Given the description of an element on the screen output the (x, y) to click on. 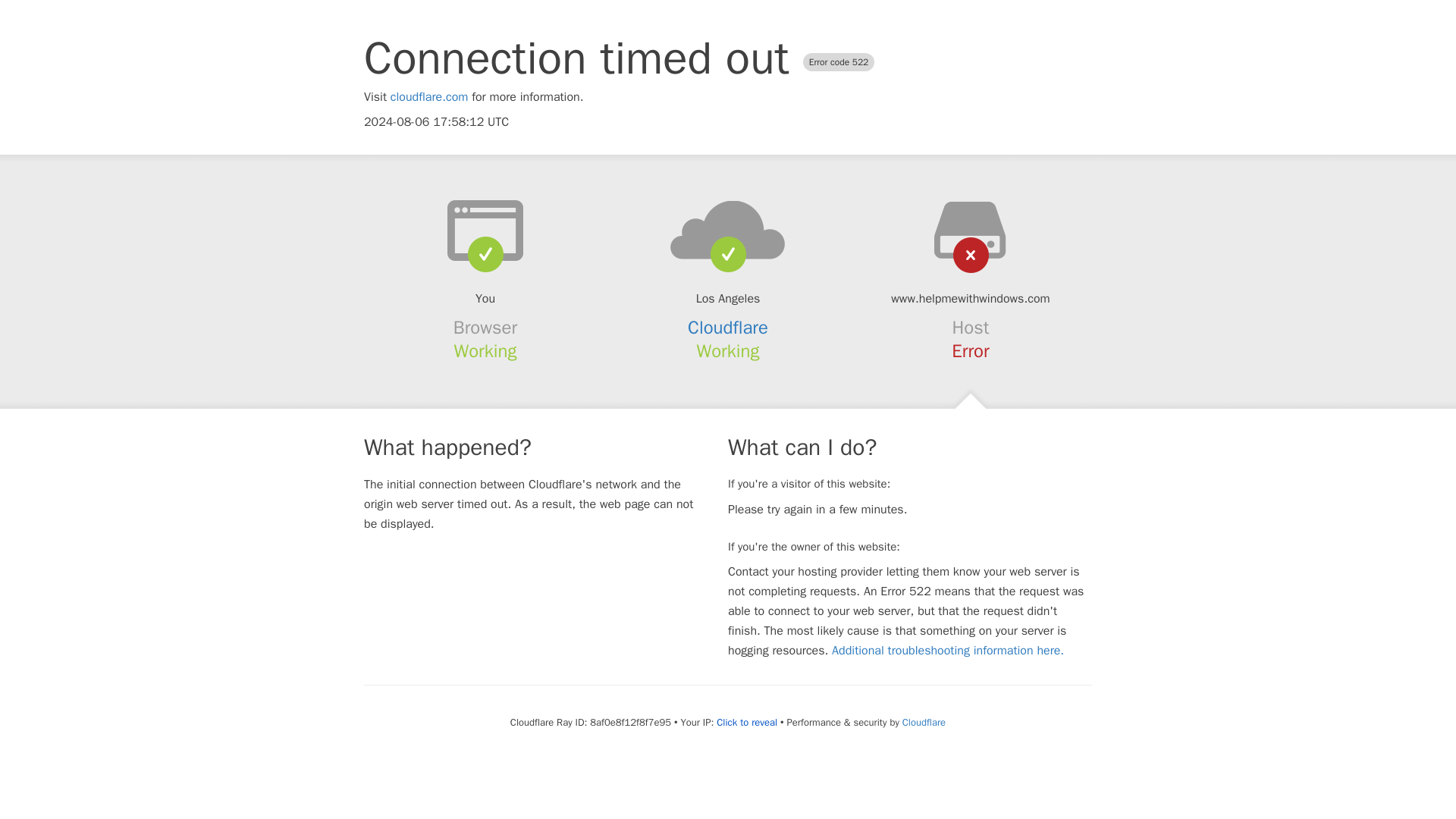
cloudflare.com (429, 96)
Cloudflare (923, 721)
Cloudflare (727, 327)
Additional troubleshooting information here. (947, 650)
Click to reveal (746, 722)
